Given the description of an element on the screen output the (x, y) to click on. 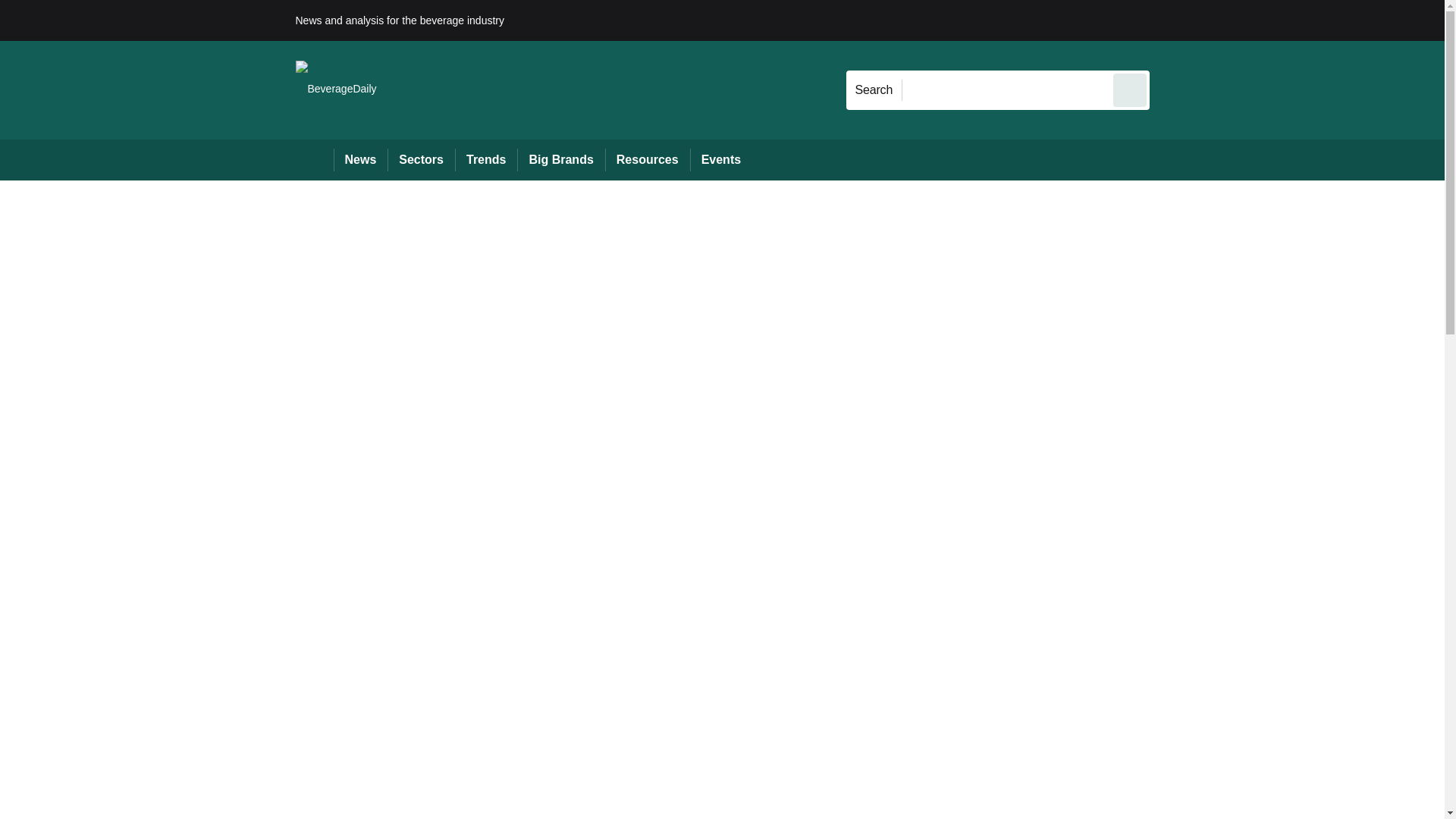
Send (1129, 89)
Sign out (1174, 20)
News (360, 159)
Send (1129, 90)
Sign in (1171, 20)
REGISTER (1250, 20)
Home (313, 159)
Trends (485, 159)
Sectors (420, 159)
Home (314, 159)
